Given the description of an element on the screen output the (x, y) to click on. 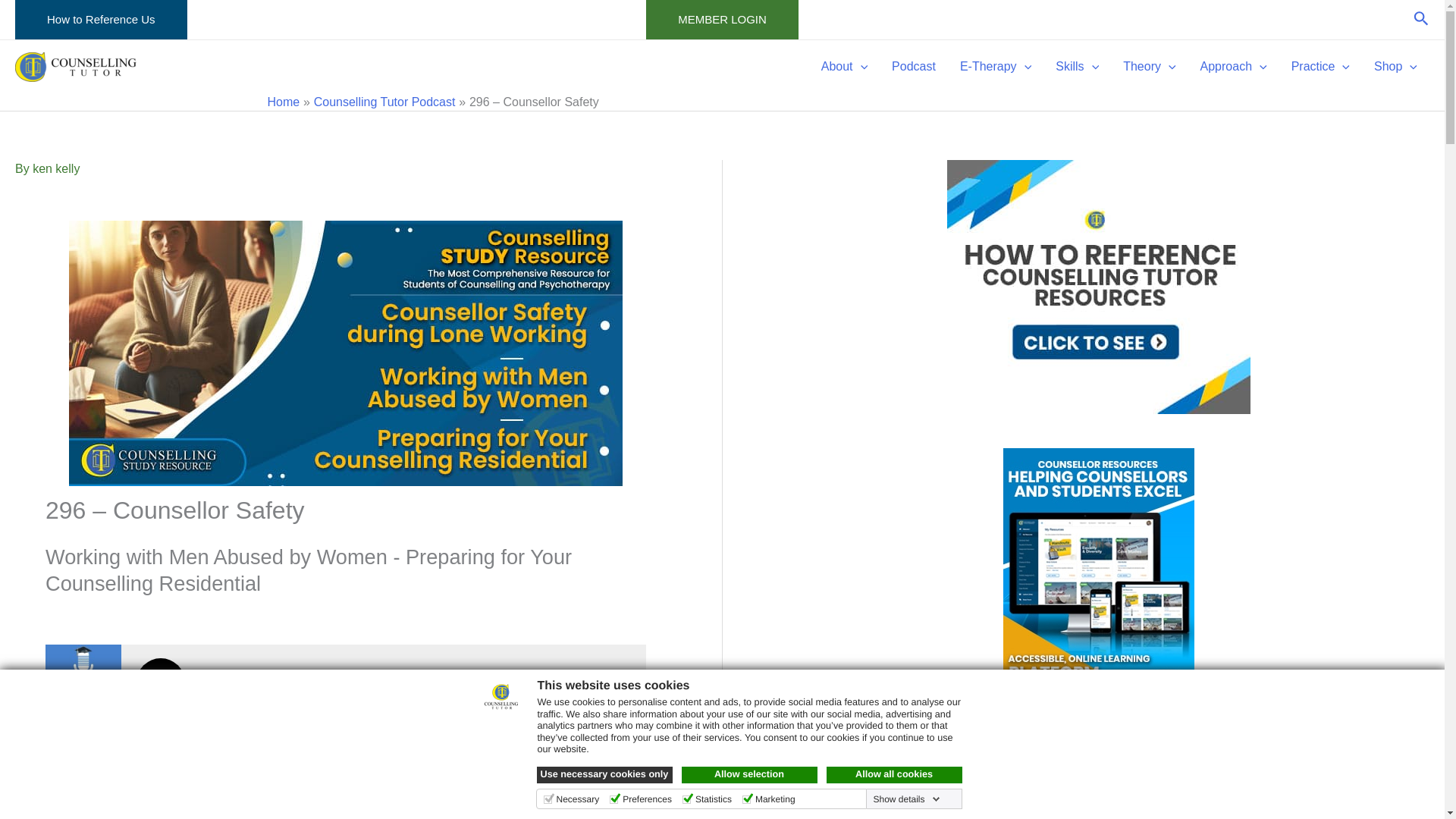
Allow all cookies (894, 774)
Show details (905, 799)
More (617, 684)
Allow selection (748, 774)
Use necessary cookies only (604, 774)
Download (588, 684)
